Given the description of an element on the screen output the (x, y) to click on. 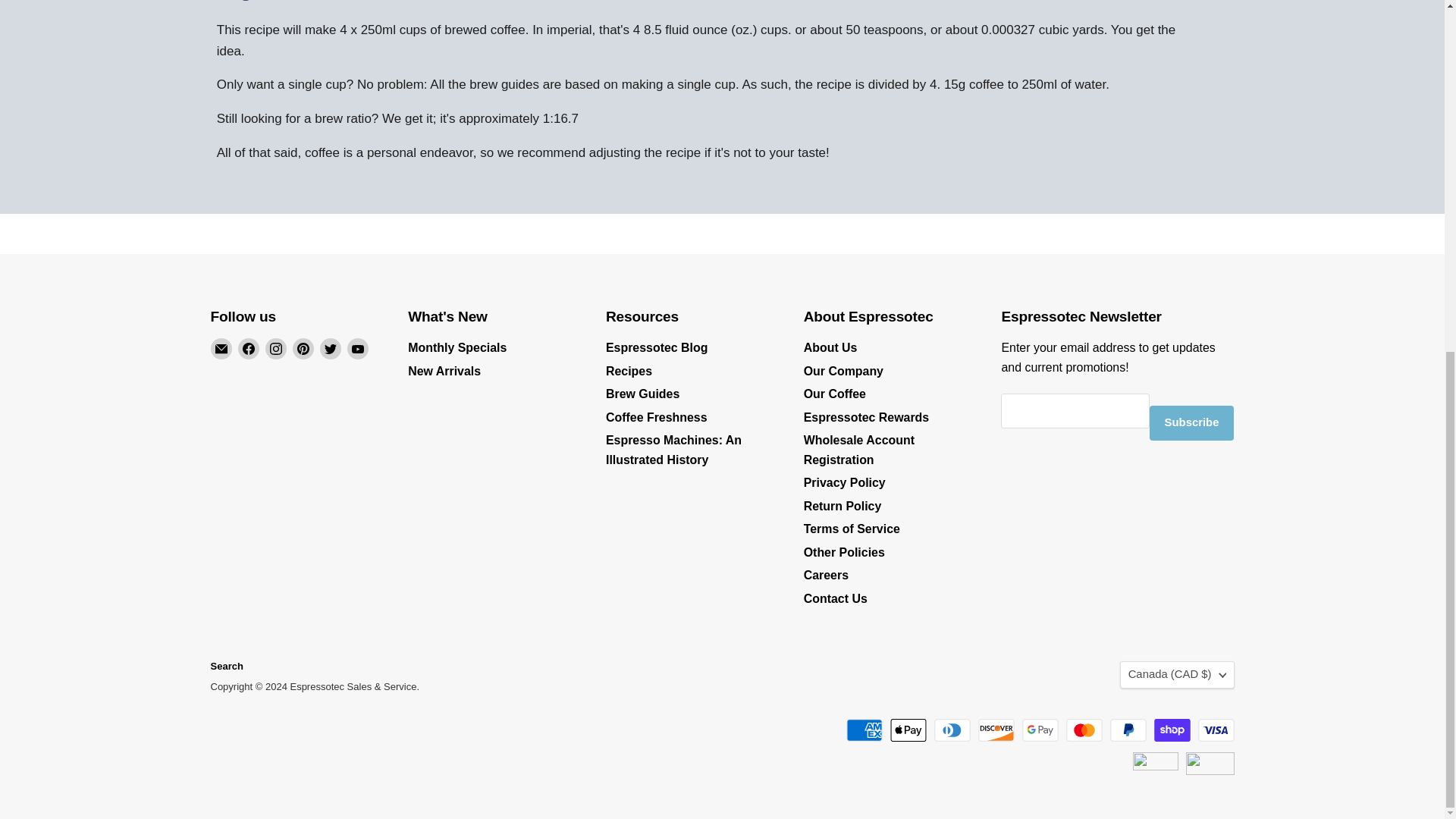
Facebook (248, 348)
Email (221, 348)
Instagram (275, 348)
Twitter (330, 348)
YouTube (357, 348)
Pinterest (303, 348)
